Given the description of an element on the screen output the (x, y) to click on. 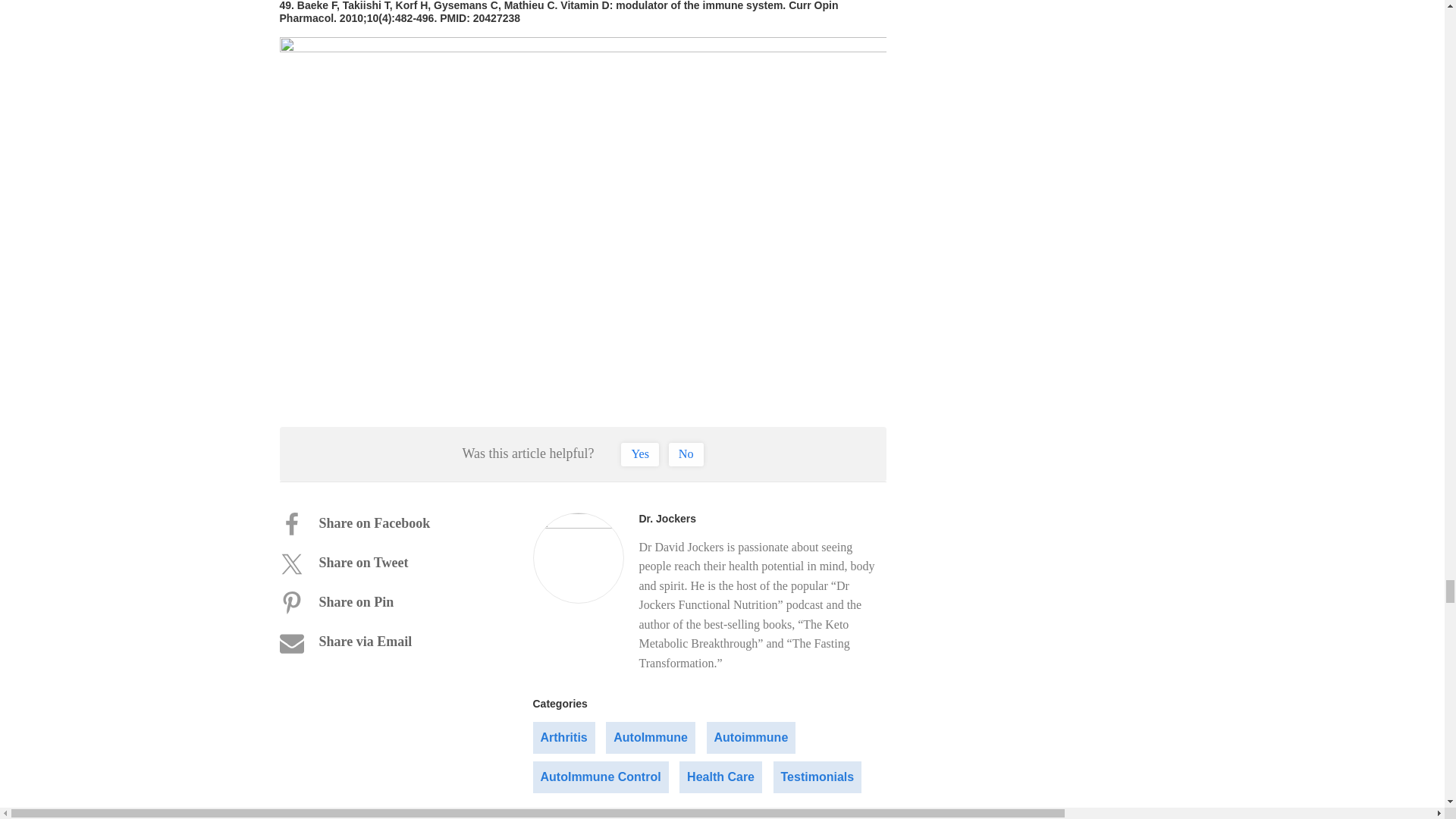
Share via Email (362, 642)
Share on Facebook (362, 524)
Share on Pinterest (362, 603)
Share on Twitter (362, 564)
Share via Email (362, 642)
